Given the description of an element on the screen output the (x, y) to click on. 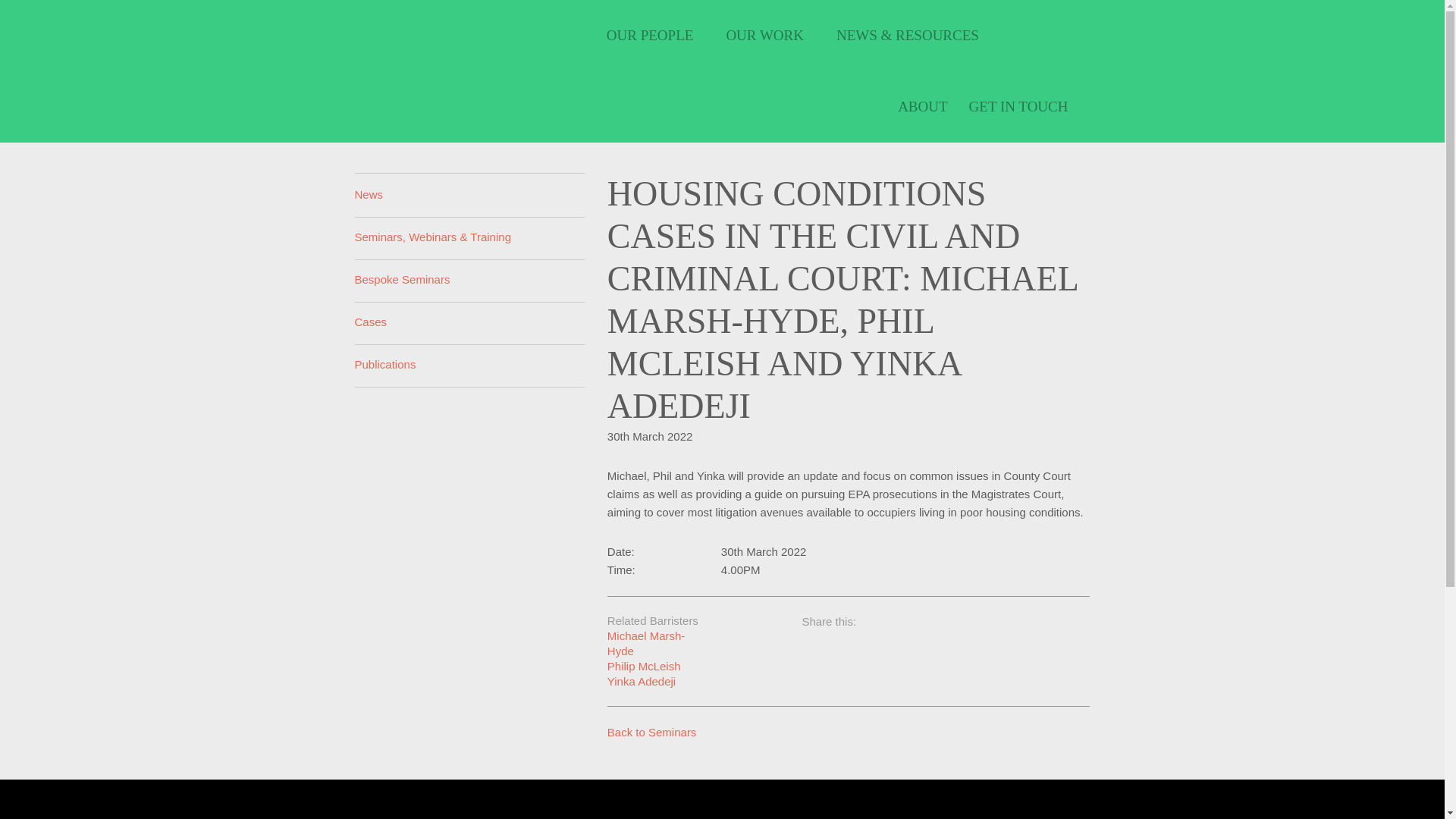
Search (1089, 33)
OUR PEOPLE (655, 35)
OUR WORK (769, 35)
One Pump Court (419, 34)
